Given the description of an element on the screen output the (x, y) to click on. 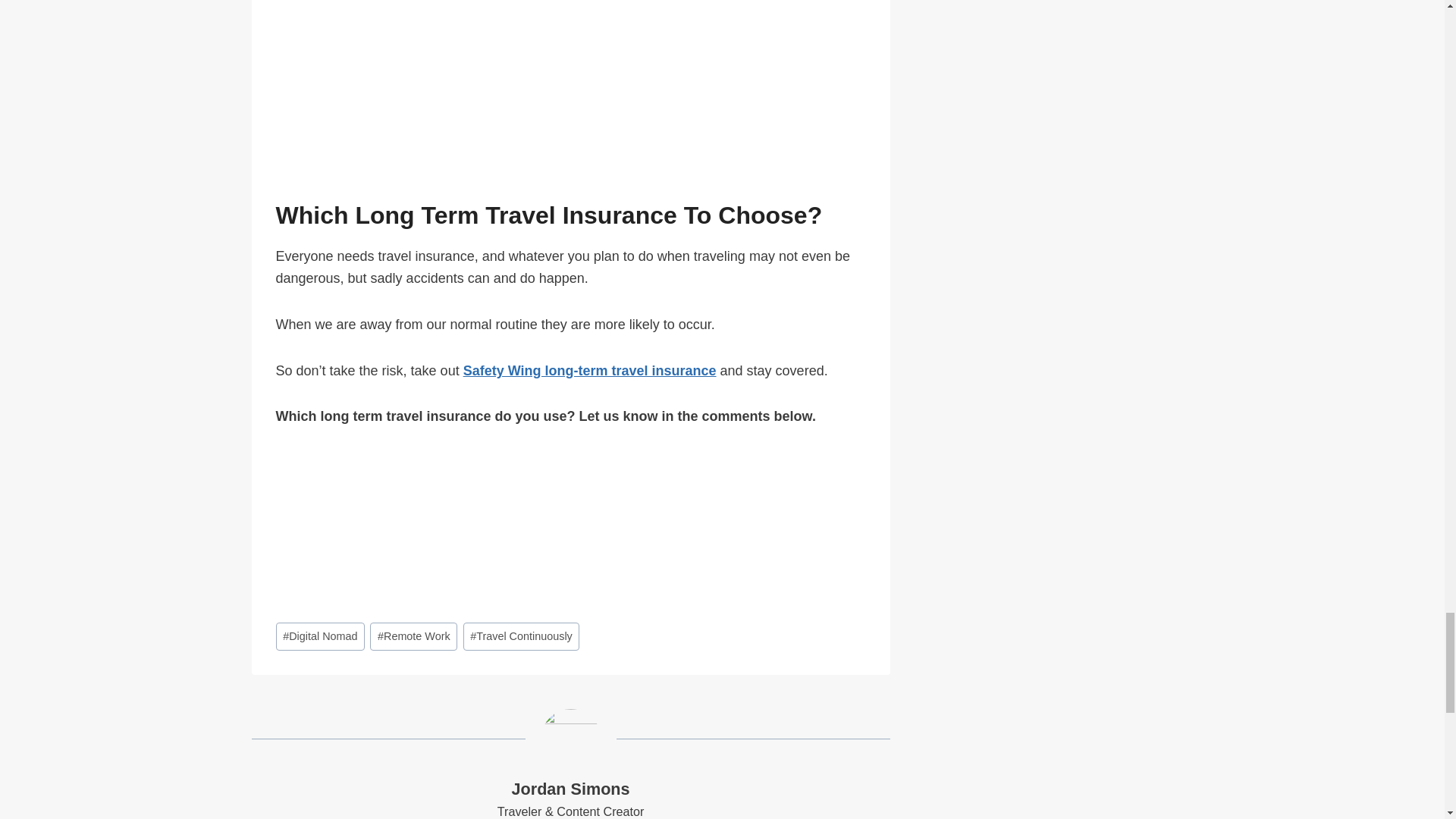
Travel Continuously (521, 636)
Remote Work (413, 636)
Digital Nomad (320, 636)
